Given the description of an element on the screen output the (x, y) to click on. 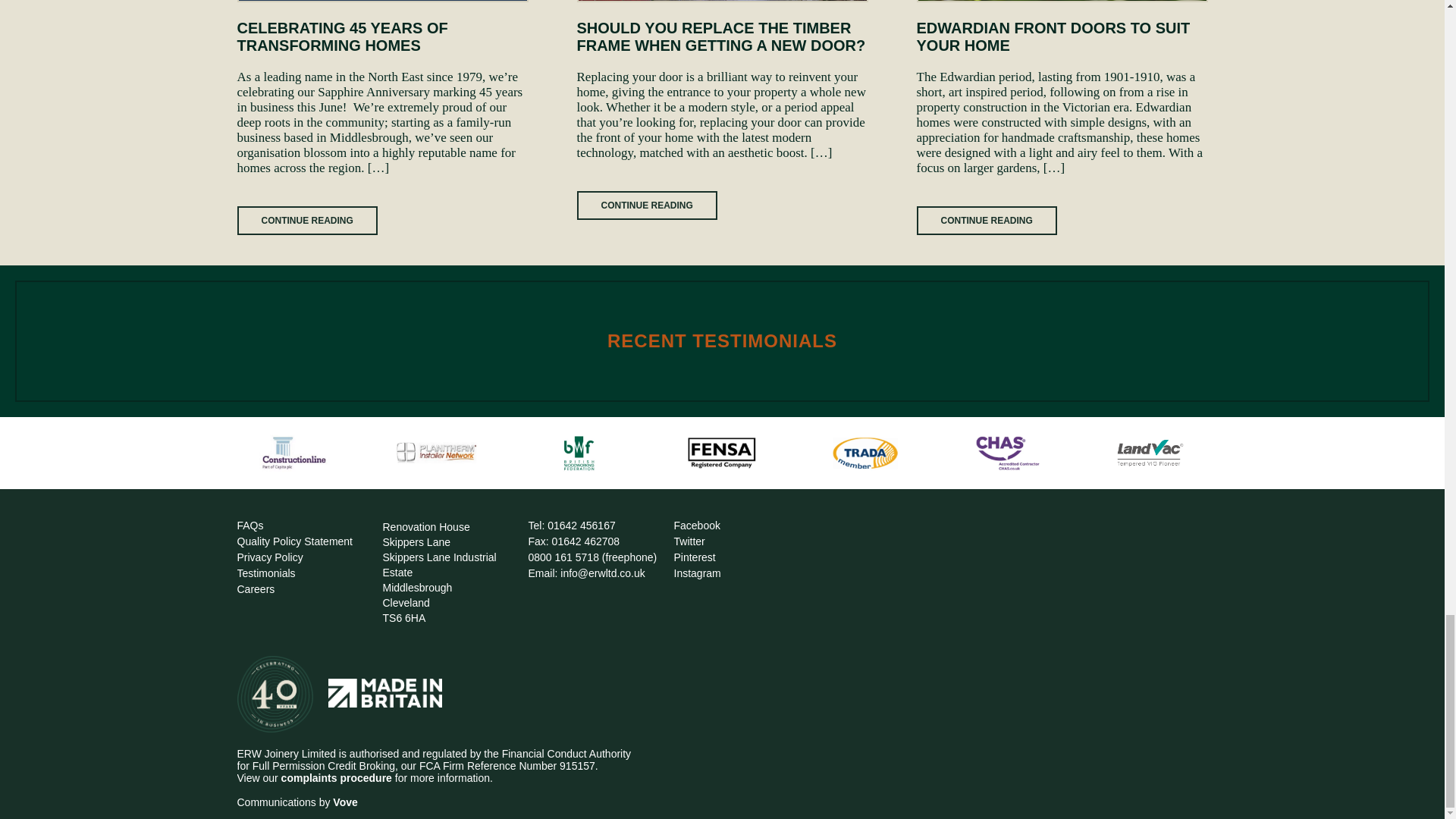
CONTINUE READING (646, 205)
CONTINUE READING (986, 220)
FAQs (249, 525)
Testimonials (265, 573)
CONTINUE READING (306, 220)
Careers (255, 589)
Privacy Policy (268, 557)
Quality Policy Statement (293, 541)
